Given the description of an element on the screen output the (x, y) to click on. 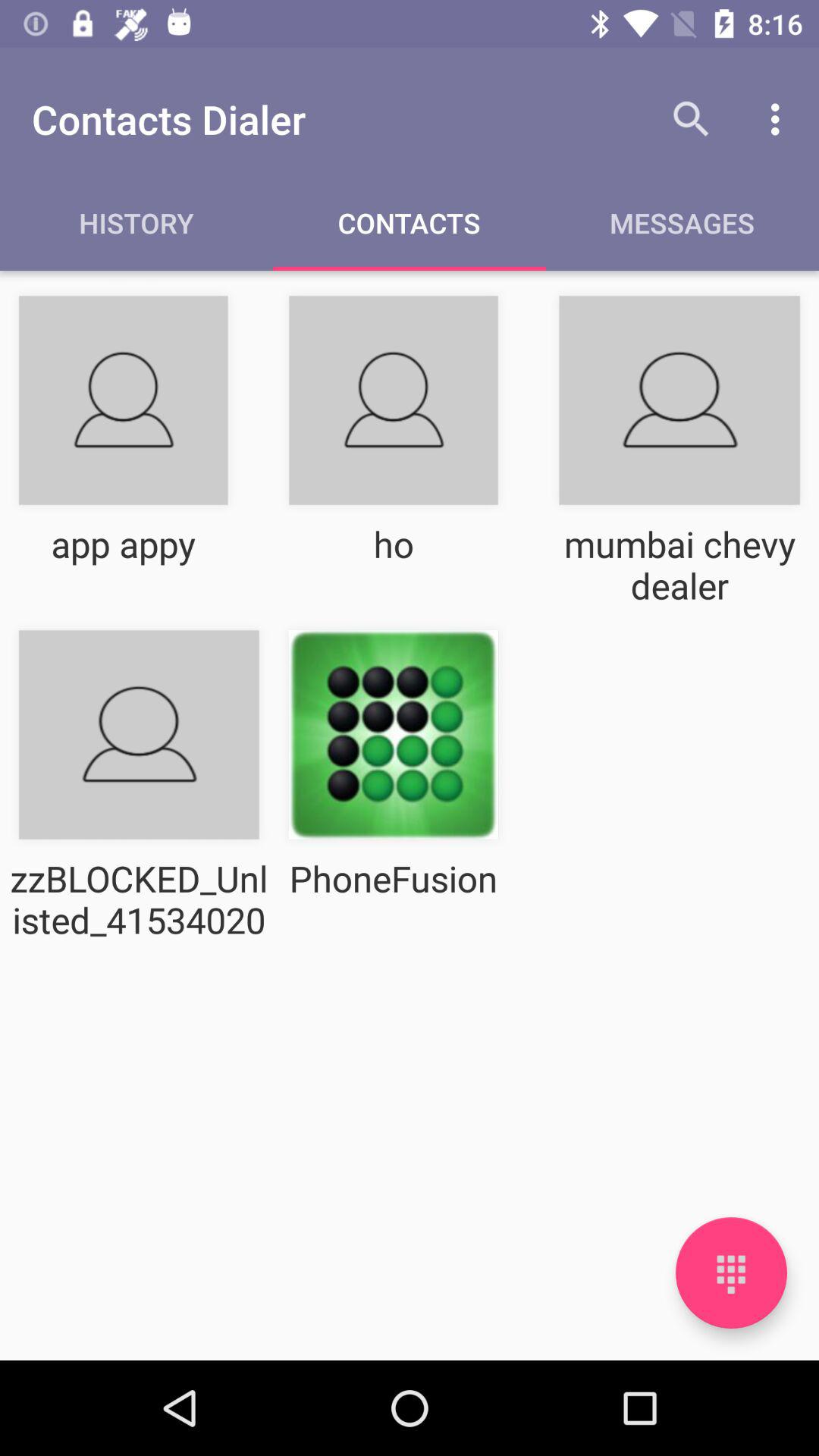
turn on the item above the messages (691, 119)
